Given the description of an element on the screen output the (x, y) to click on. 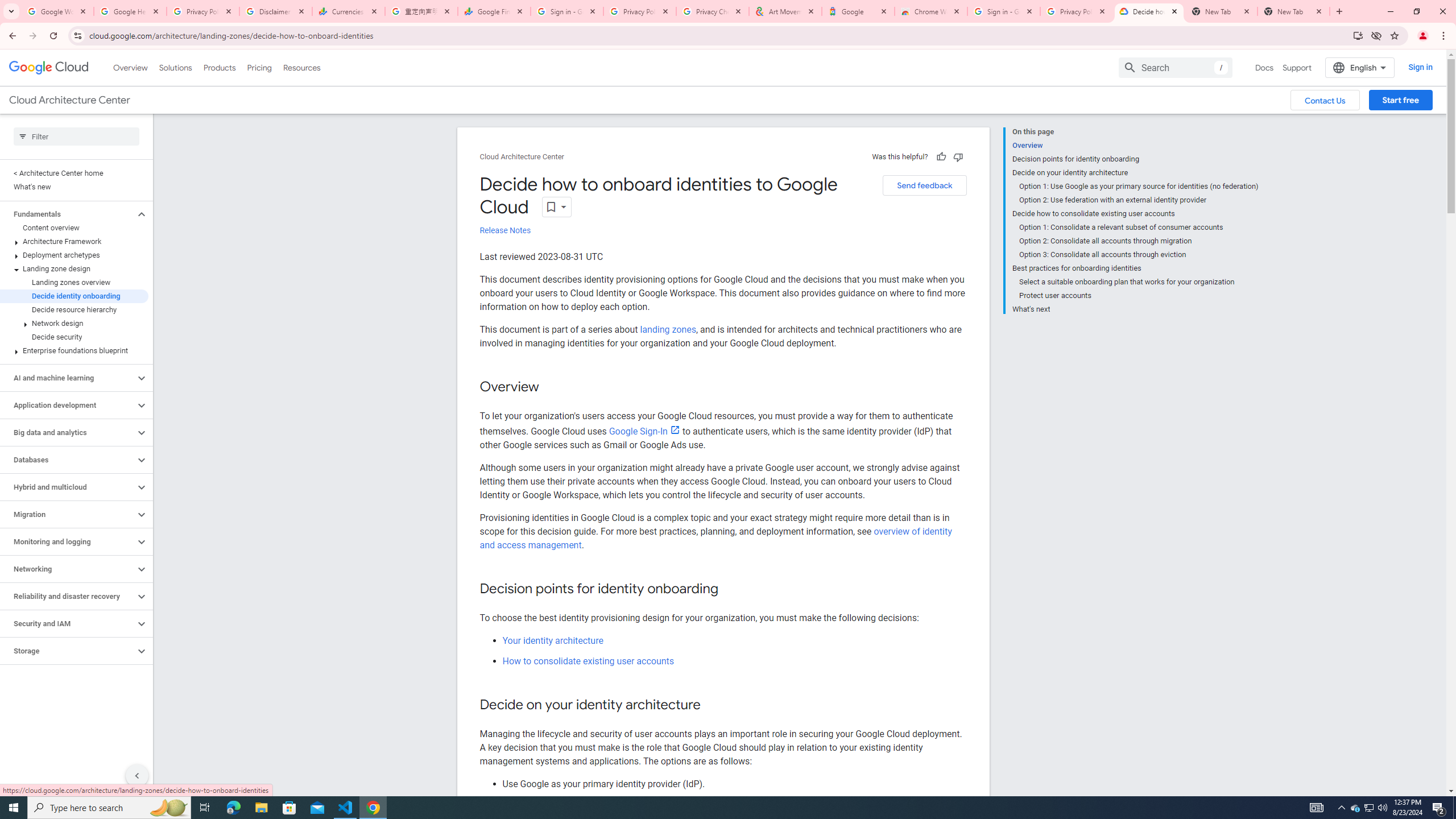
English (1359, 67)
Chrome Web Store - Color themes by Chrome (930, 11)
Hide side navigation (136, 775)
Content overview (74, 228)
Enterprise foundations blueprint (74, 350)
Copy link to this section: Overview (550, 387)
Big data and analytics (67, 432)
Type to filter (76, 136)
Open dropdown (556, 206)
Deployment archetypes (74, 255)
